Given the description of an element on the screen output the (x, y) to click on. 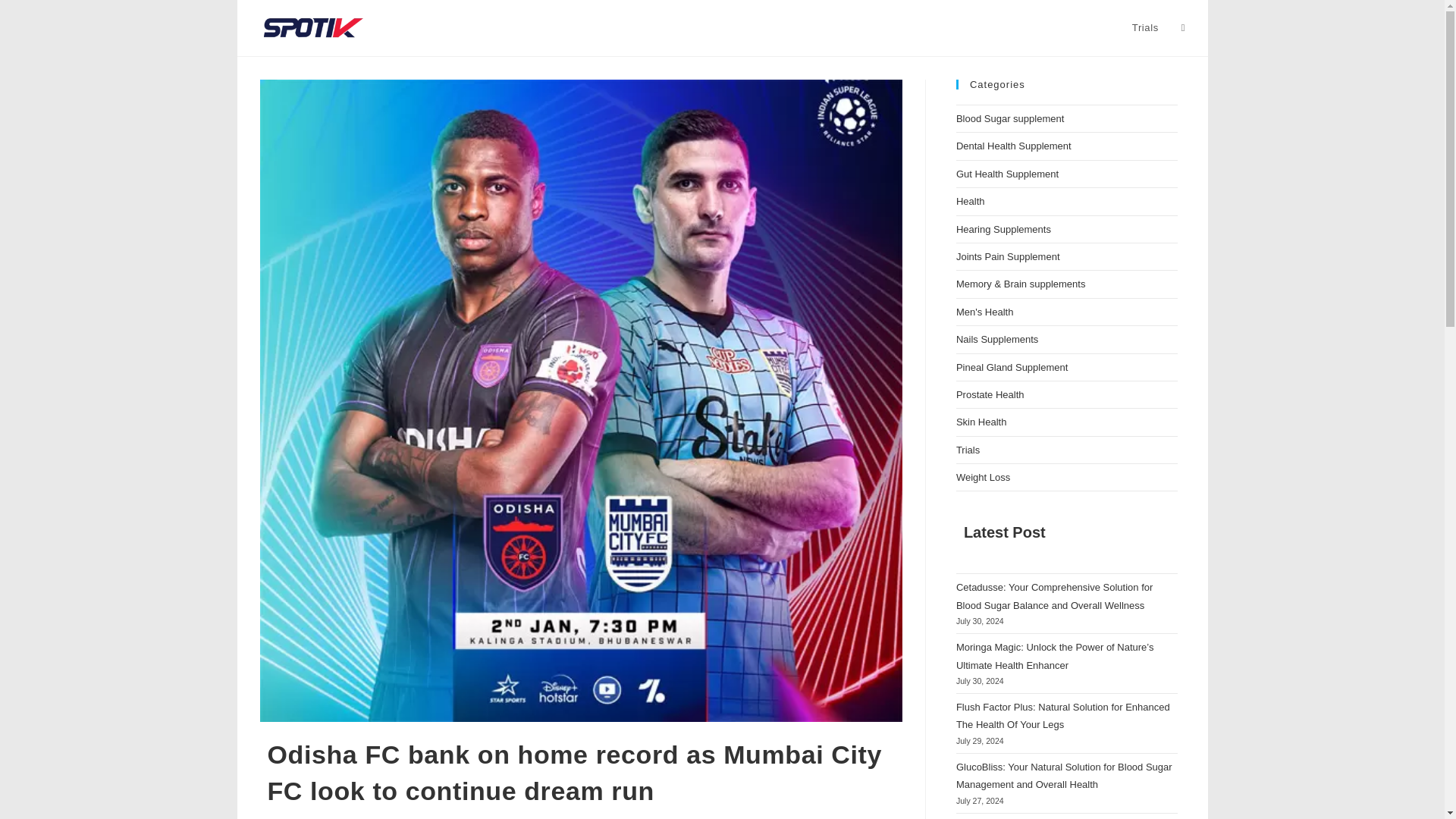
Pineal Gland Supplement (1011, 367)
Men's Health (984, 311)
Prostate Health (990, 394)
Blood Sugar supplement (1010, 118)
Health (970, 201)
Joints Pain Supplement (1007, 256)
Hearing Supplements (1003, 229)
Trials (967, 449)
Weight Loss (983, 477)
Nails Supplements (997, 338)
Skin Health (981, 421)
Dental Health Supplement (1013, 145)
Gut Health Supplement (1007, 173)
